Given the description of an element on the screen output the (x, y) to click on. 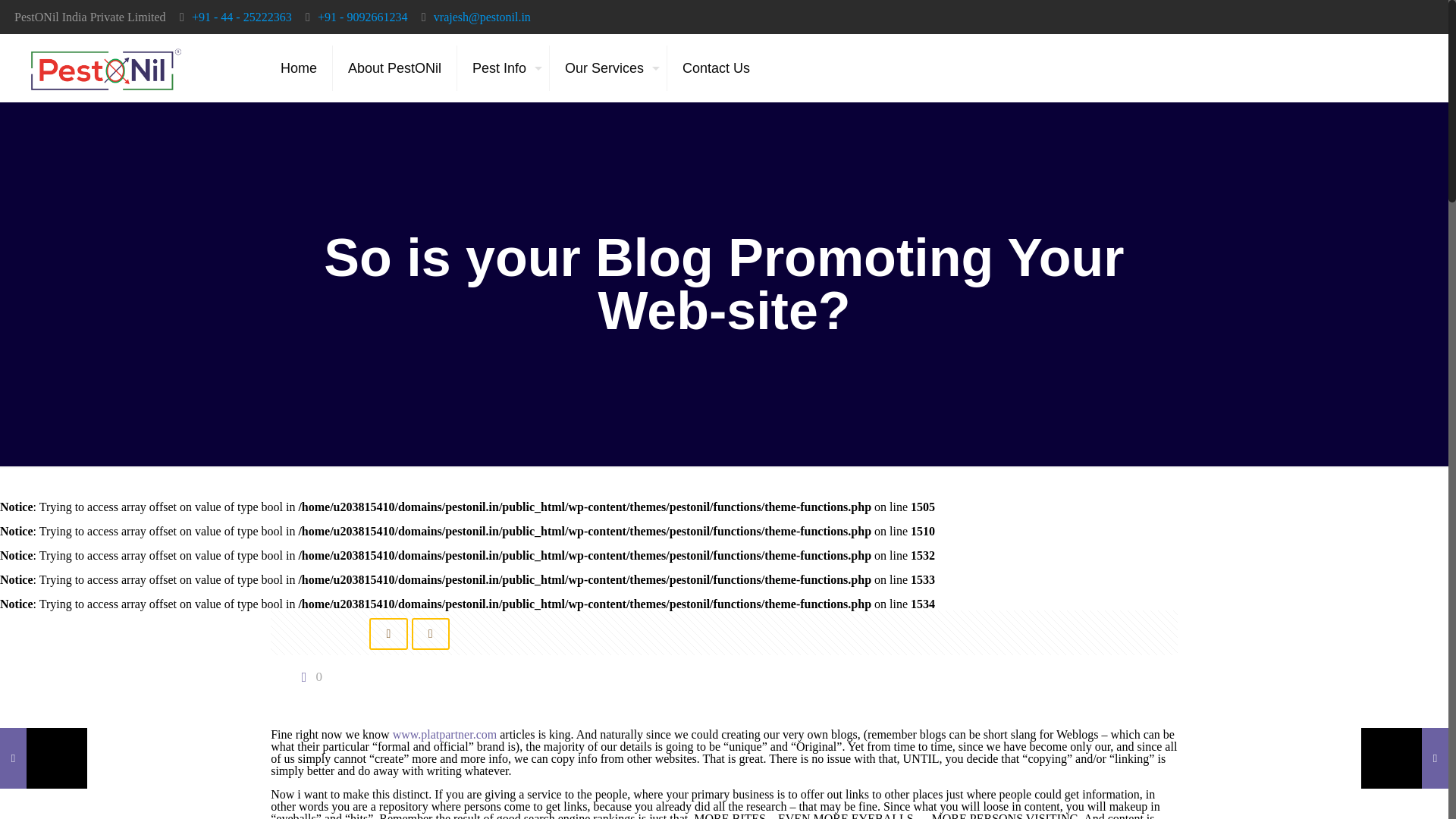
www.platpartner.com (445, 734)
About PestONil (395, 68)
Home (298, 68)
PestONil India Private Limited (106, 68)
Contact Us (715, 68)
Our Services (608, 68)
0 (307, 676)
Pest Info (503, 68)
